Given the description of an element on the screen output the (x, y) to click on. 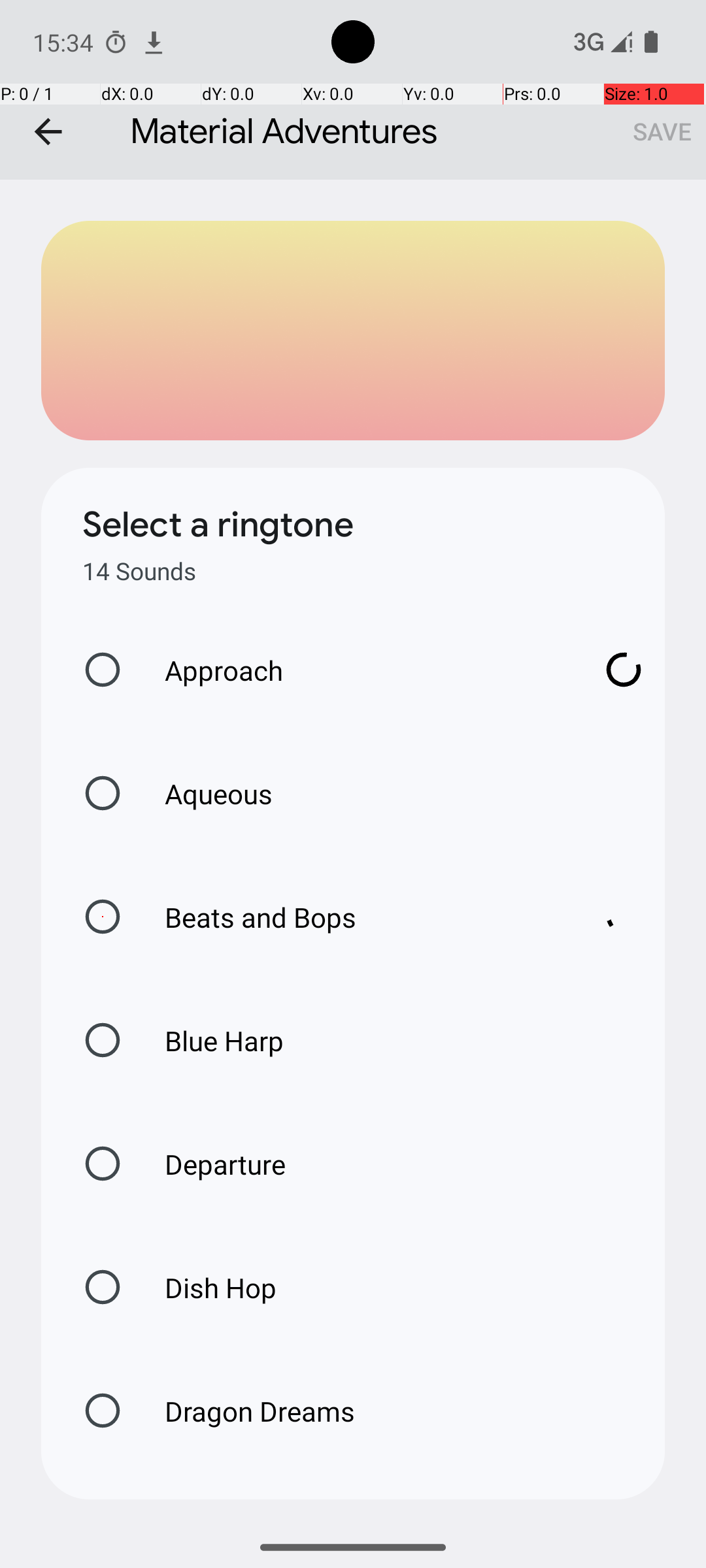
14 Sounds Element type: android.widget.TextView (139, 570)
Approach Element type: android.widget.TextView (359, 669)
Download in progress Element type: android.widget.ImageView (623, 669)
Aqueous Element type: android.widget.TextView (204, 793)
Beats and Bops Element type: android.widget.TextView (359, 916)
Blue Harp Element type: android.widget.TextView (210, 1040)
Departure Element type: android.widget.TextView (211, 1163)
Dish Hop Element type: android.widget.TextView (206, 1287)
Dragon Dreams Element type: android.widget.TextView (245, 1410)
